Given the description of an element on the screen output the (x, y) to click on. 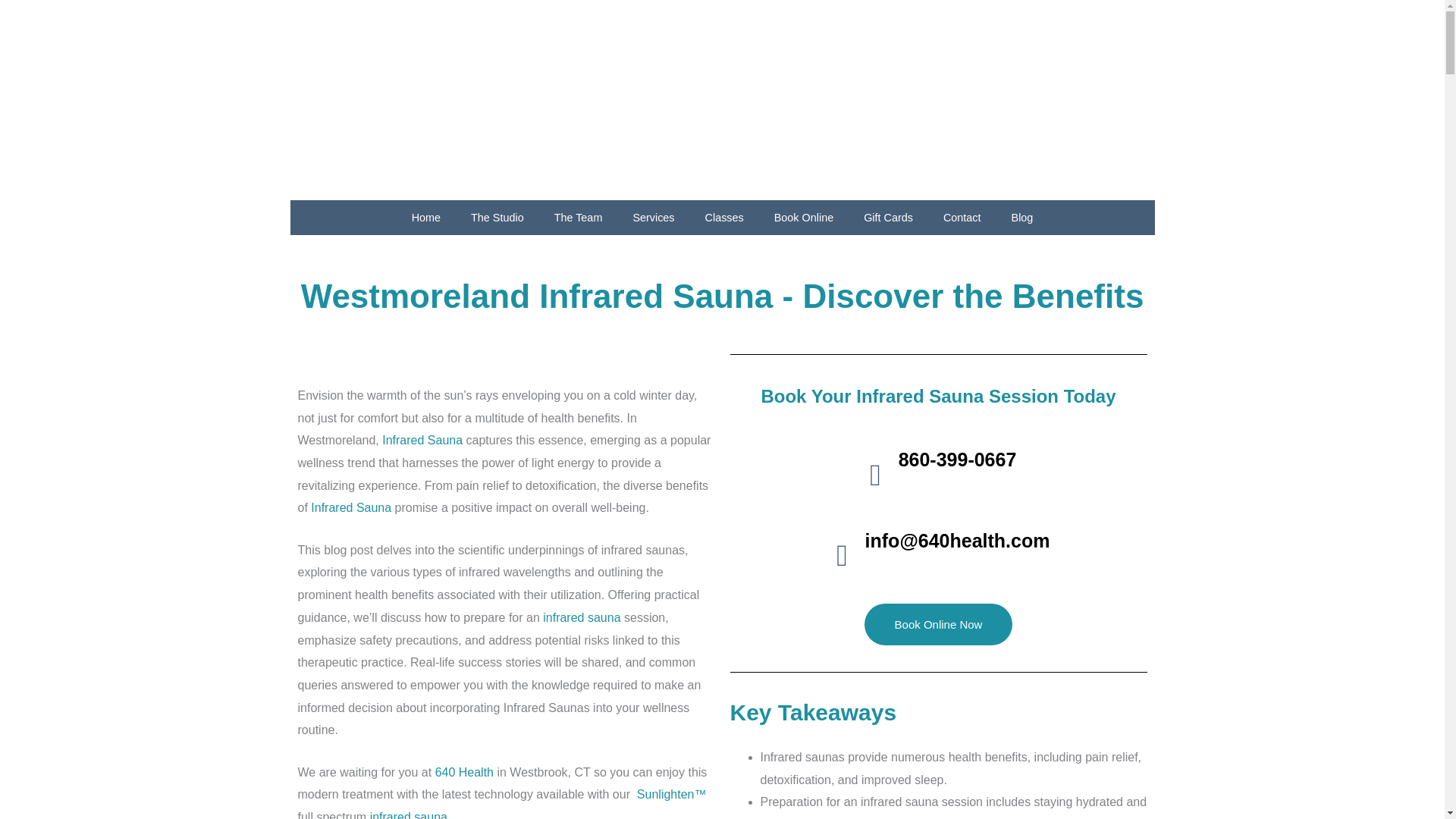
Learn More! (422, 440)
Blog (1021, 217)
Learn More! (407, 814)
The Studio (496, 217)
Services (652, 217)
Learn More! (581, 617)
Home (425, 217)
Gift Cards (888, 217)
Learn More! (671, 793)
The Team (577, 217)
